Given the description of an element on the screen output the (x, y) to click on. 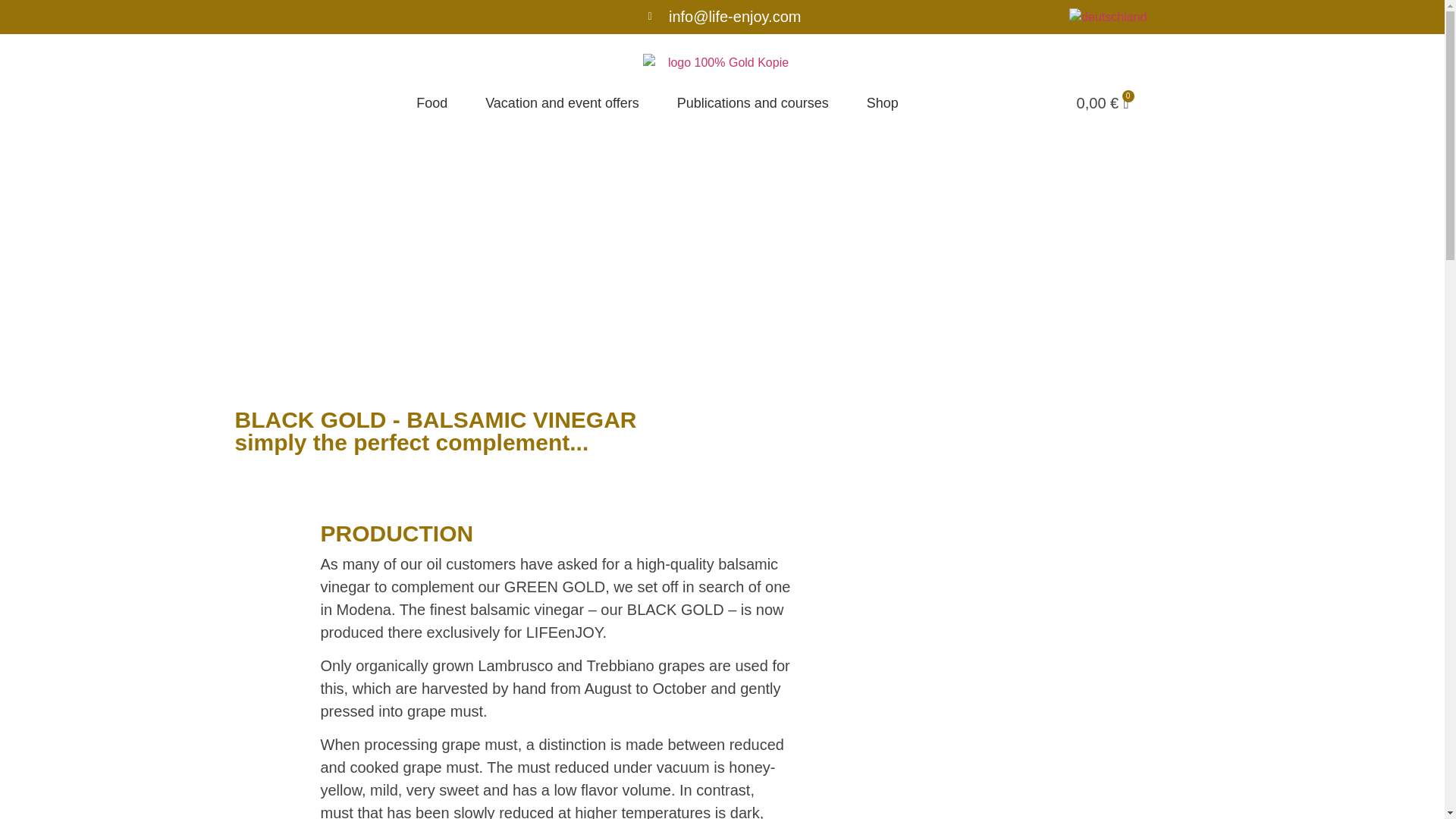
deutschland (1107, 17)
Publications and courses (752, 103)
Food (431, 103)
Vacation and event offers (561, 103)
Shop (882, 103)
